Given the description of an element on the screen output the (x, y) to click on. 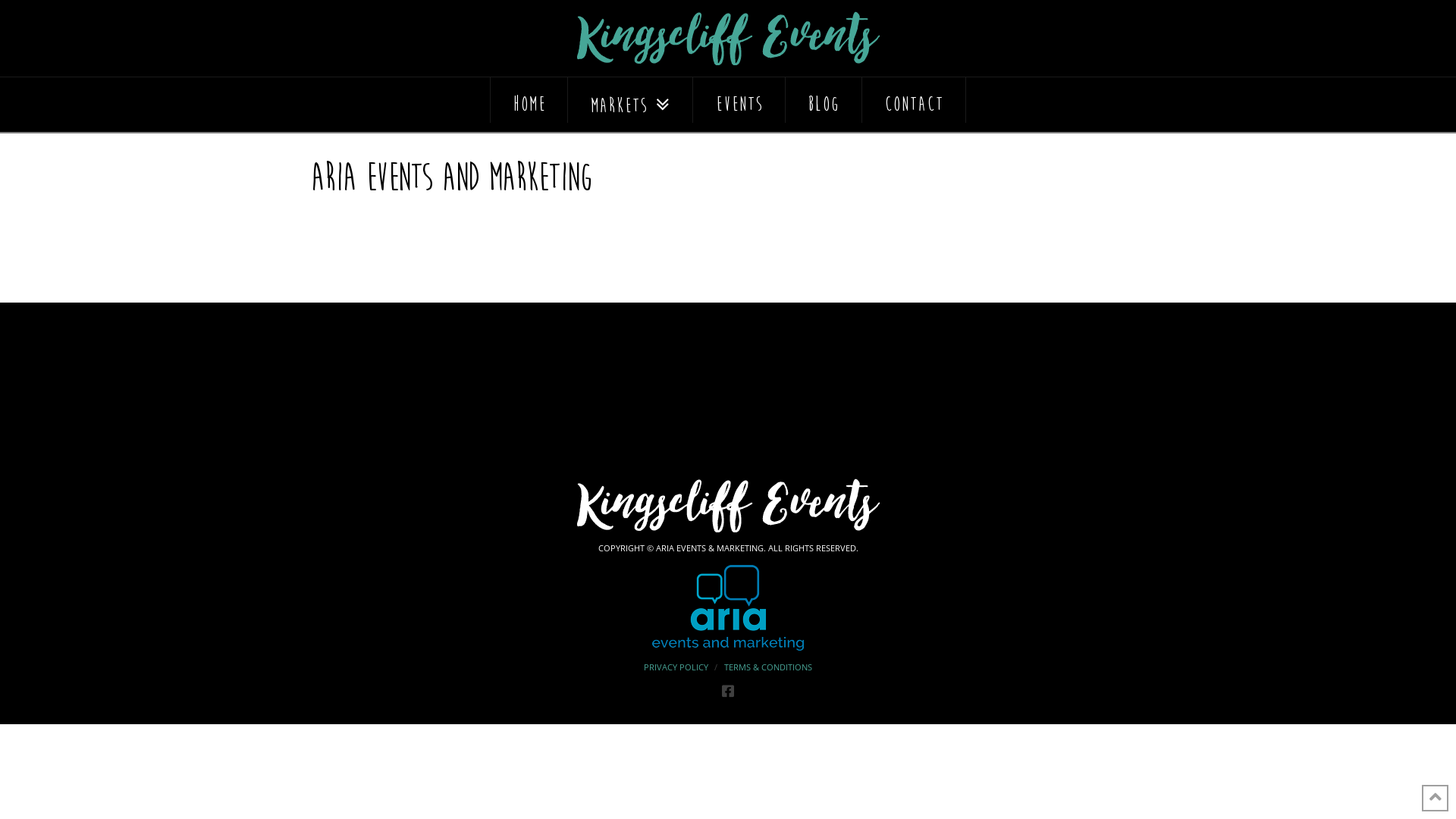
Home Element type: text (528, 99)
PRIVACY POLICY Element type: text (675, 667)
Facebook Element type: hover (727, 690)
Markets Element type: text (630, 99)
Events Element type: text (739, 99)
Contact Element type: text (914, 99)
TERMS & CONDITIONS Element type: text (768, 667)
Blog Element type: text (823, 99)
Back to Top Element type: hover (1434, 797)
